Given the description of an element on the screen output the (x, y) to click on. 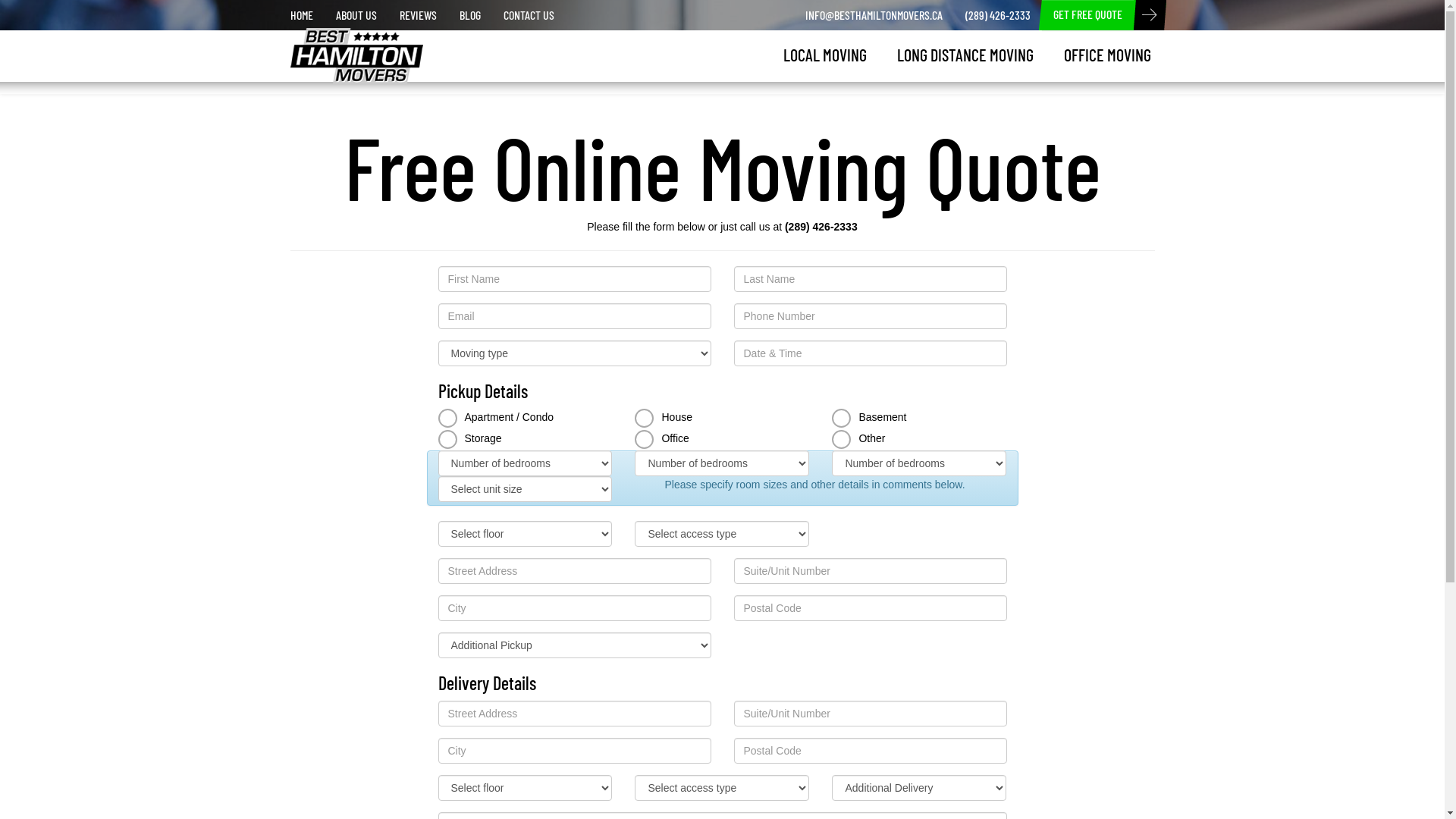
Best Movers in Hamilton Element type: hover (344, 46)
ABOUT US Element type: text (356, 15)
OFFICE MOVING Element type: text (1106, 54)
INFO@BESTHAMILTONMOVERS.CA Element type: text (873, 15)
(289) 426-2333 Element type: text (997, 15)
LONG DISTANCE MOVING Element type: text (964, 54)
BLOG Element type: text (469, 15)
GET FREE QUOTE Element type: text (1087, 15)
REVIEWS Element type: text (418, 15)
CONTACT US Element type: text (527, 15)
HOME Element type: text (301, 15)
LOCAL MOVING Element type: text (824, 54)
